Given the description of an element on the screen output the (x, y) to click on. 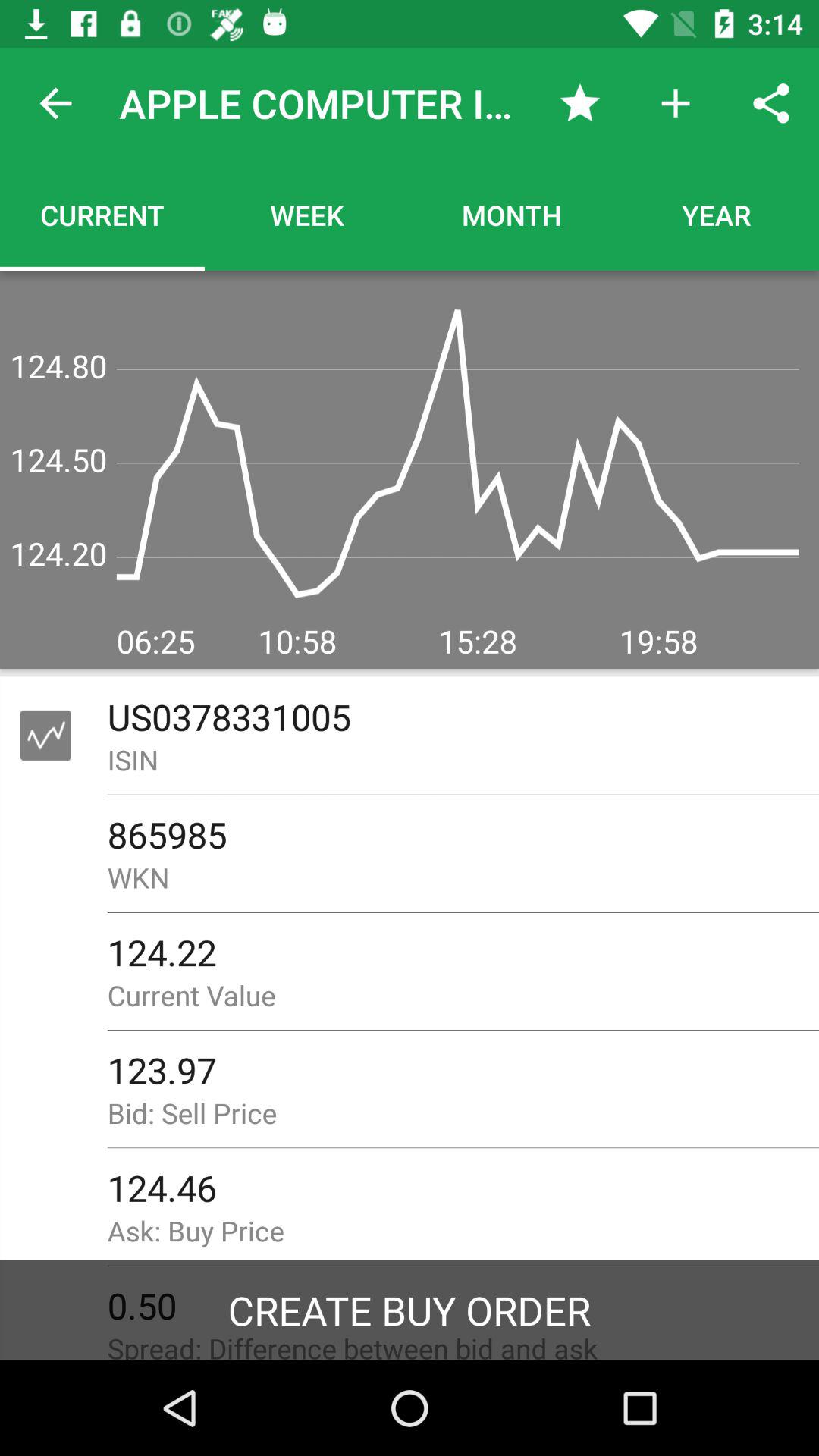
turn off the icon above year (771, 103)
